Given the description of an element on the screen output the (x, y) to click on. 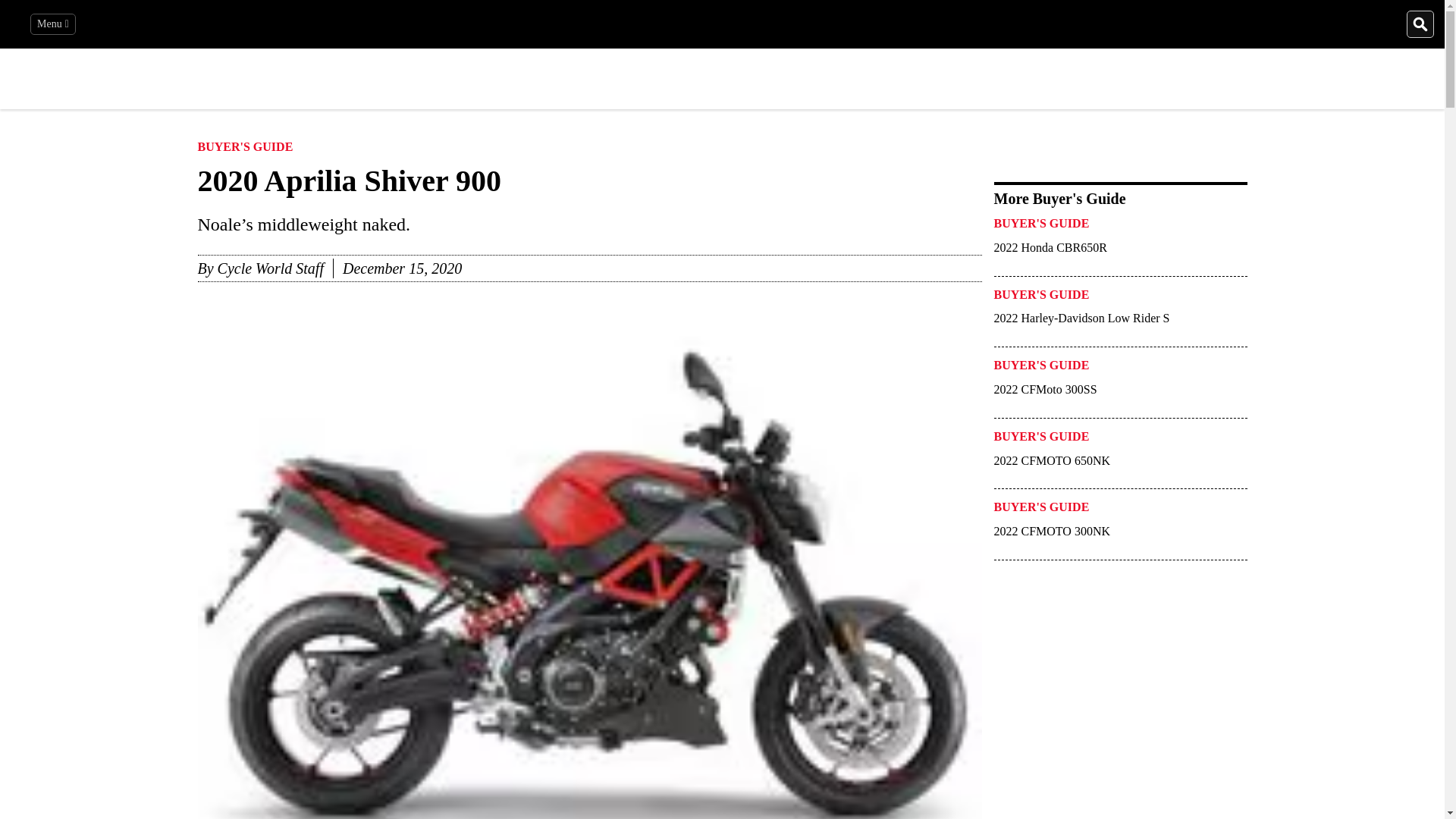
BUYER'S GUIDE (1040, 298)
Menu (52, 24)
BUYER'S GUIDE (244, 150)
2022 Honda CBR650R (1081, 254)
Cycle World Staff (269, 268)
BUYER'S GUIDE (1040, 227)
